Given the description of an element on the screen output the (x, y) to click on. 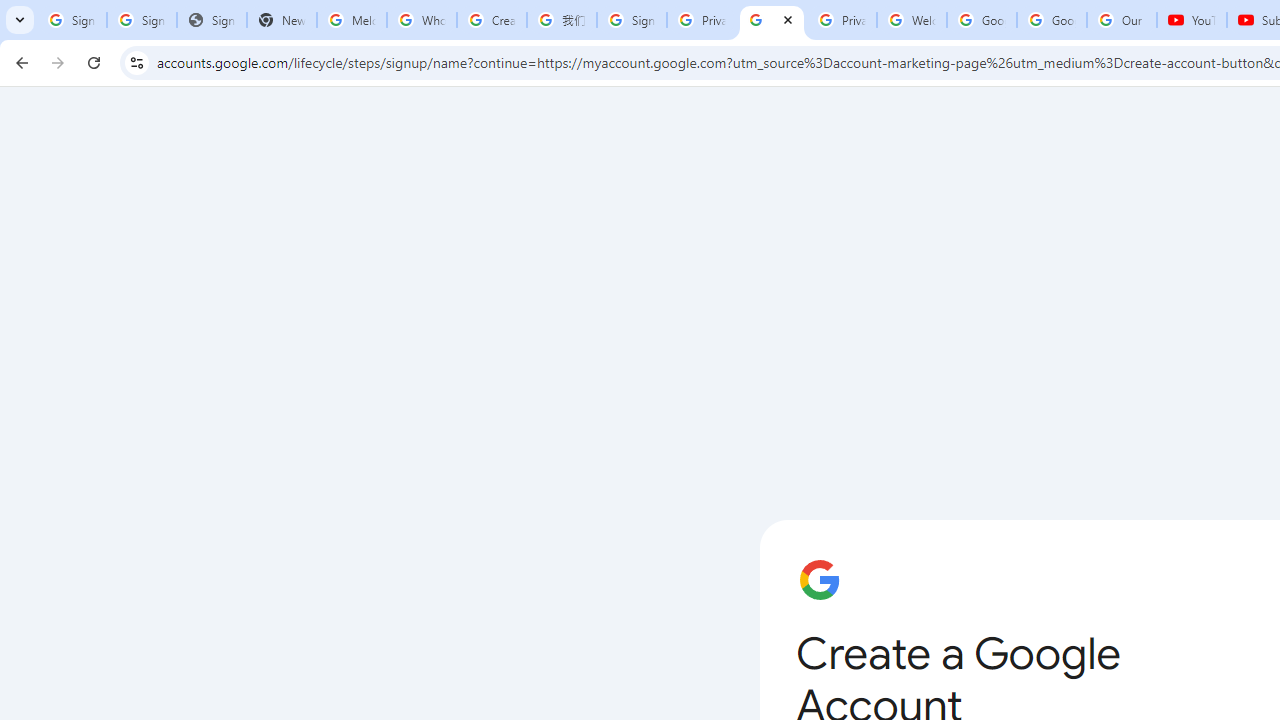
Create your Google Account (492, 20)
Sign In - USA TODAY (211, 20)
Google Account (1051, 20)
Sign in - Google Accounts (631, 20)
YouTube (1192, 20)
Create your Google Account (772, 20)
Sign in - Google Accounts (141, 20)
